Given the description of an element on the screen output the (x, y) to click on. 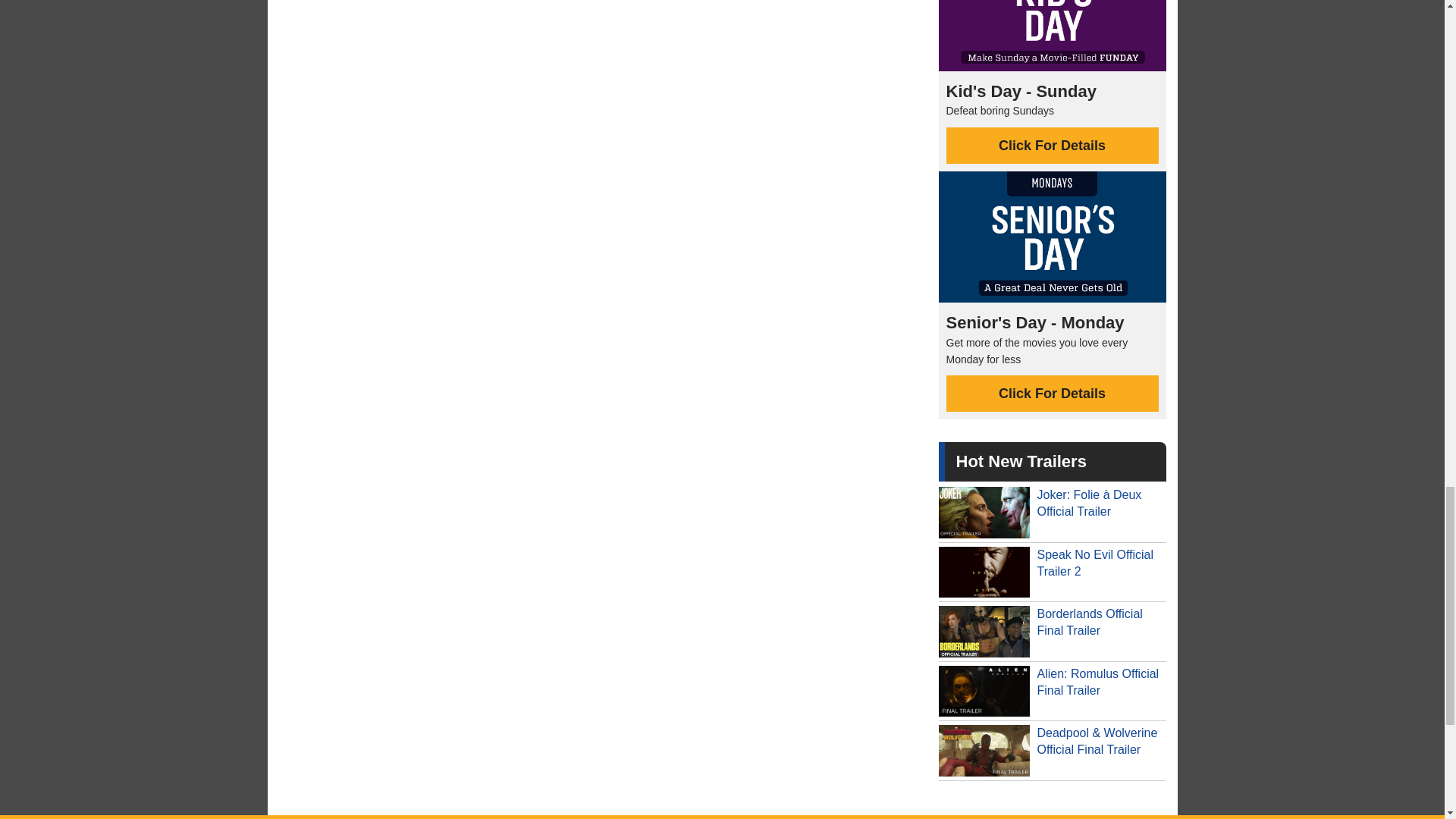
Speak No Evil Official Trailer 2 (1052, 571)
Borderlands Official Final Trailer (1052, 630)
Alien: Romulus Official Final Trailer (1052, 691)
Click For Details (1052, 393)
Click For Details (1052, 145)
